Given the description of an element on the screen output the (x, y) to click on. 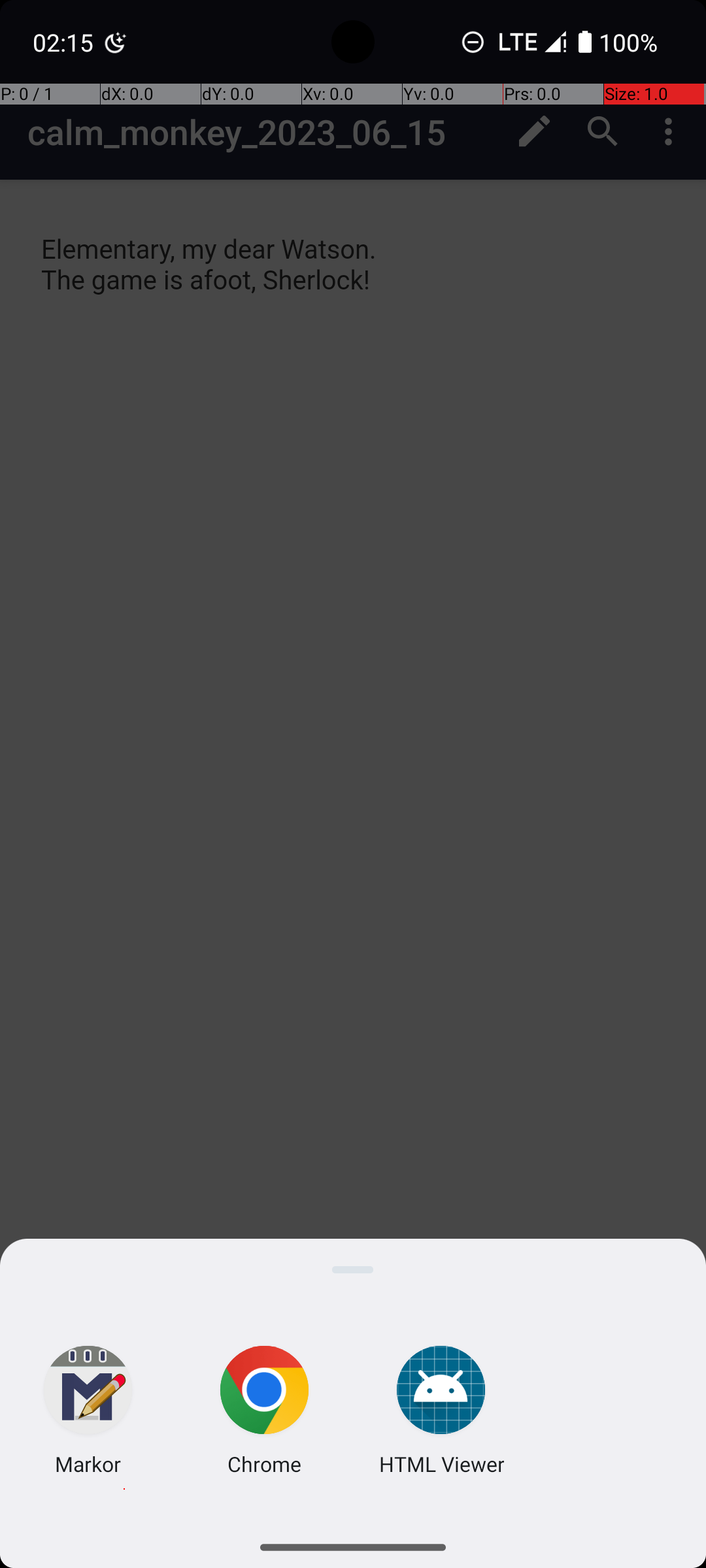
HTML Viewer Element type: android.widget.TextView (441, 1463)
02:15 Element type: android.widget.TextView (64, 41)
Digital Wellbeing notification: Bedtime mode is on Element type: android.widget.ImageView (115, 41)
